Given the description of an element on the screen output the (x, y) to click on. 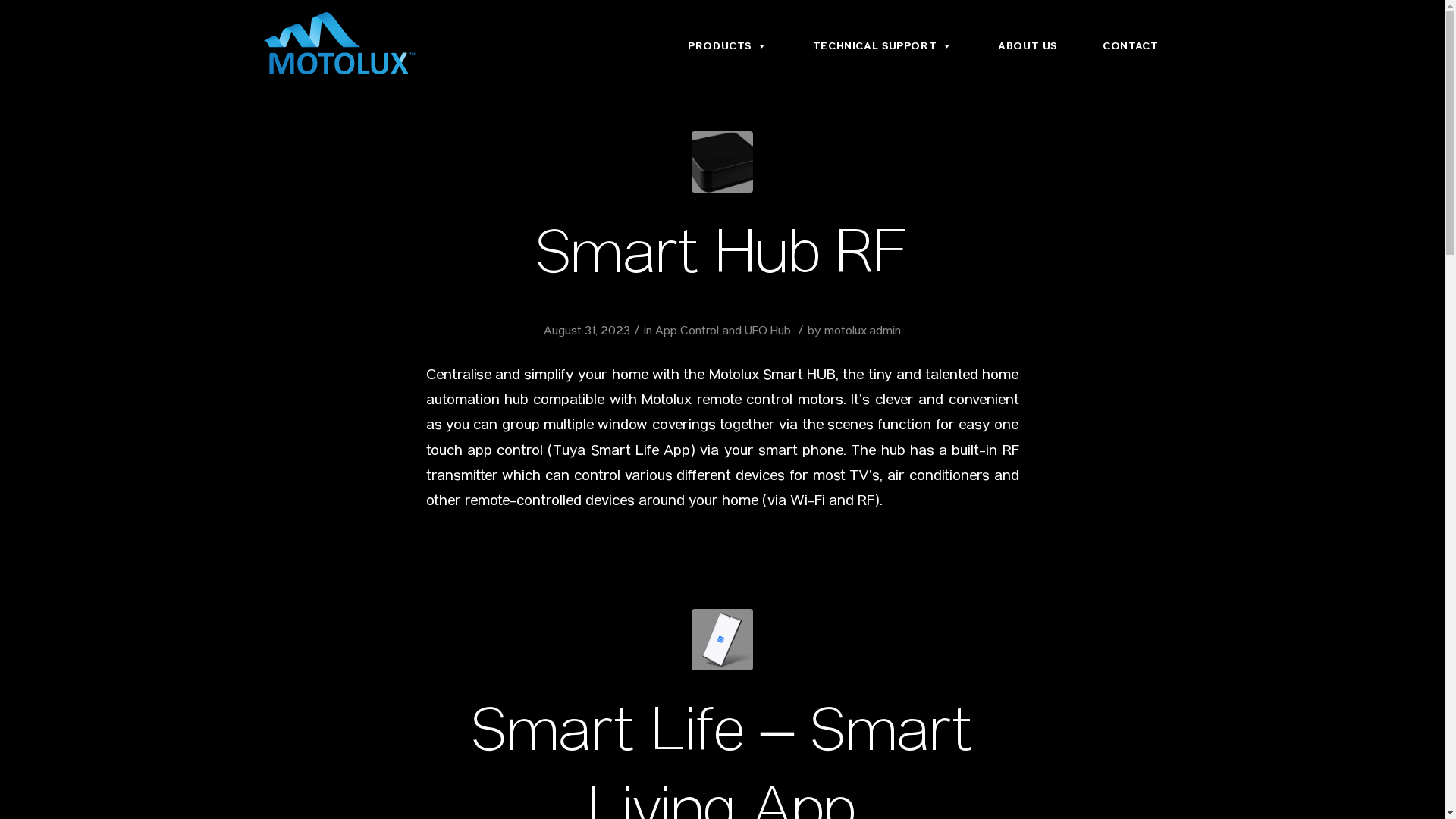
801762890_Smart HUB RF Element type: hover (722, 161)
PRODUCTS Element type: text (727, 46)
ABOUT US Element type: text (1027, 46)
App Control and UFO Hub Element type: text (722, 331)
CONTACT Element type: text (1129, 46)
Smart Hub RF Element type: text (721, 258)
Smart Life Mockup Element type: hover (722, 639)
TECHNICAL SUPPORT Element type: text (882, 46)
motolux.admin Element type: text (862, 331)
